Given the description of an element on the screen output the (x, y) to click on. 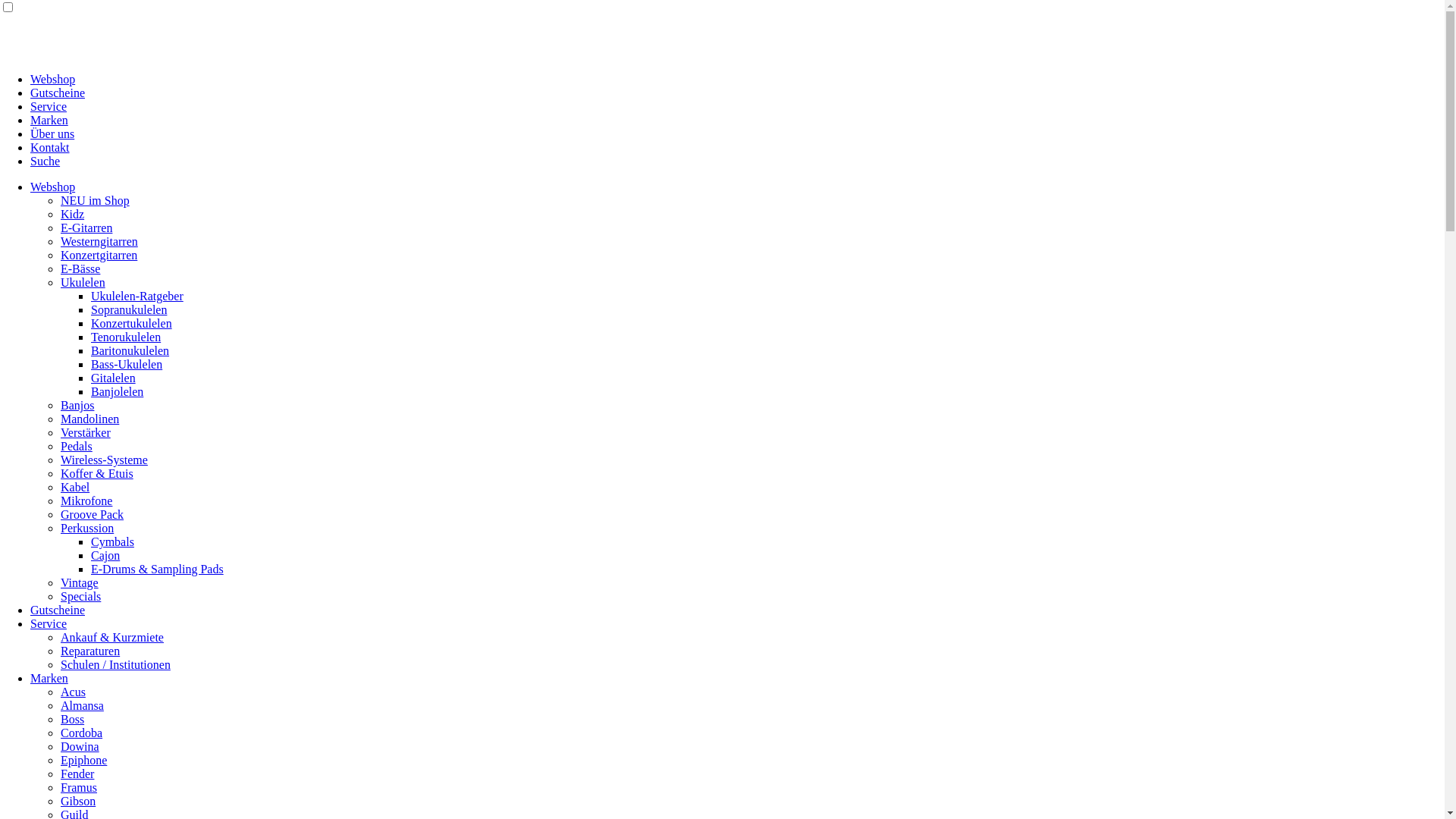
Tenorukulelen Element type: text (125, 336)
Konzertgitarren Element type: text (98, 254)
Konzertukulelen Element type: text (131, 322)
Acus Element type: text (72, 691)
Gutscheine Element type: text (57, 609)
Ukulelen-Ratgeber Element type: text (137, 295)
Baritonukulelen Element type: text (130, 350)
Schulen / Institutionen Element type: text (115, 664)
Epiphone Element type: text (83, 759)
Marken Element type: text (49, 677)
Cajon Element type: text (105, 555)
Framus Element type: text (78, 787)
Bass-Ukulelen Element type: text (126, 363)
Service Element type: text (48, 106)
Cordoba Element type: text (81, 732)
Vintage Element type: text (79, 582)
Kidz Element type: text (72, 213)
Kabel Element type: text (74, 486)
E-Gitarren Element type: text (86, 227)
Ukulelen Element type: text (82, 282)
Ankauf & Kurzmiete Element type: text (111, 636)
Fender Element type: text (77, 773)
Koffer & Etuis Element type: text (96, 473)
Webshop Element type: text (52, 78)
Reparaturen Element type: text (89, 650)
Gitalelen Element type: text (113, 377)
Gibson Element type: text (77, 800)
Suche Element type: text (44, 160)
Banjos Element type: text (77, 404)
Mandolinen Element type: text (89, 418)
Almansa Element type: text (81, 705)
Gutscheine Element type: text (57, 92)
Kontakt Element type: text (49, 147)
Boss Element type: text (72, 718)
Perkussion Element type: text (86, 527)
Groove Pack Element type: text (91, 514)
Westerngitarren Element type: text (99, 241)
Marken Element type: text (49, 119)
Webshop Element type: text (52, 186)
NEU im Shop Element type: text (94, 200)
Wireless-Systeme Element type: text (103, 459)
E-Drums & Sampling Pads Element type: text (157, 568)
Sopranukulelen Element type: text (128, 309)
Specials Element type: text (80, 595)
Dowina Element type: text (79, 746)
Service Element type: text (48, 623)
Banjolelen Element type: text (117, 391)
Cymbals Element type: text (112, 541)
Pedals Element type: text (76, 445)
Mikrofone Element type: text (86, 500)
